Given the description of an element on the screen output the (x, y) to click on. 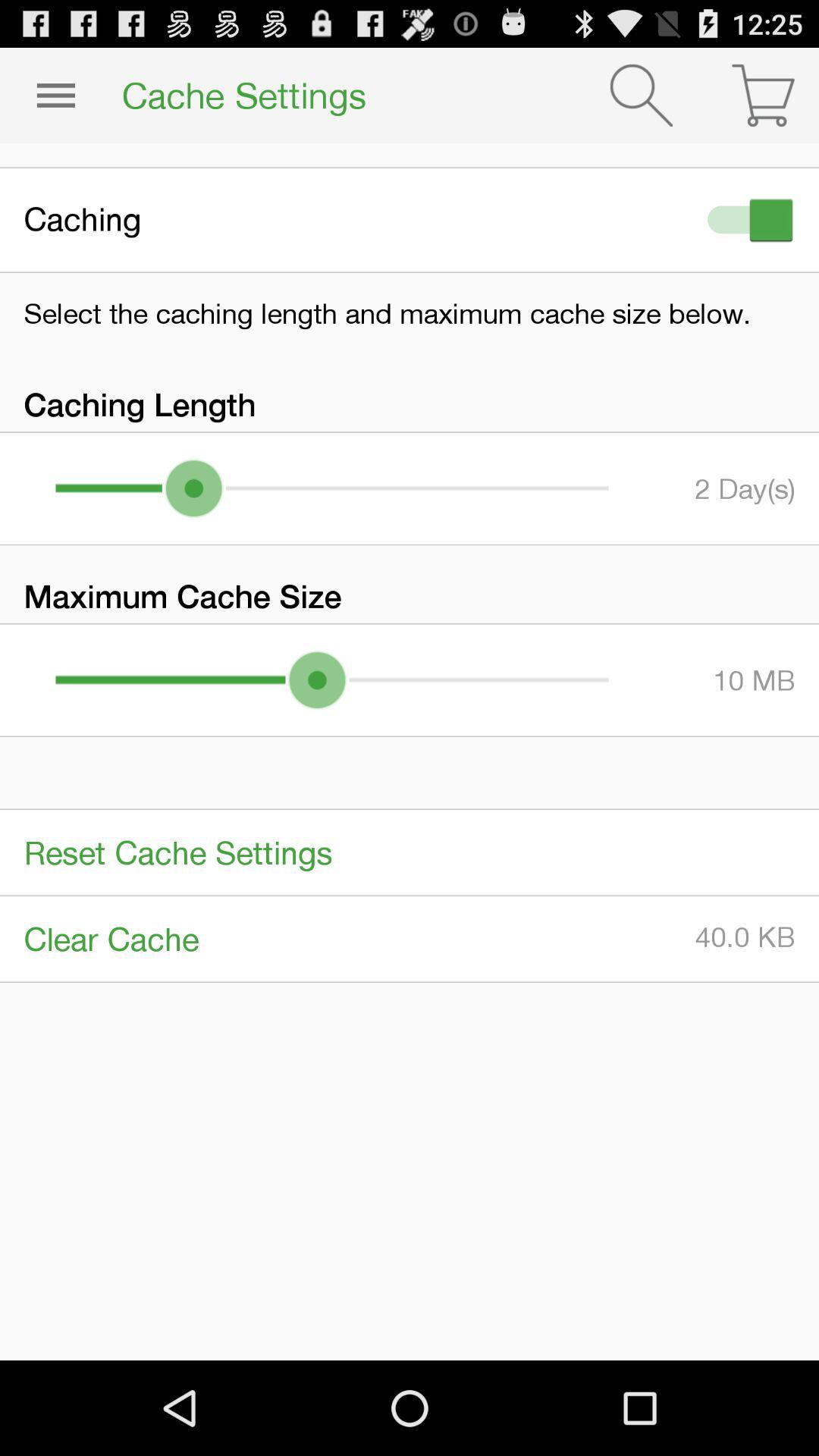
turn on item next to the cache settings icon (55, 95)
